Given the description of an element on the screen output the (x, y) to click on. 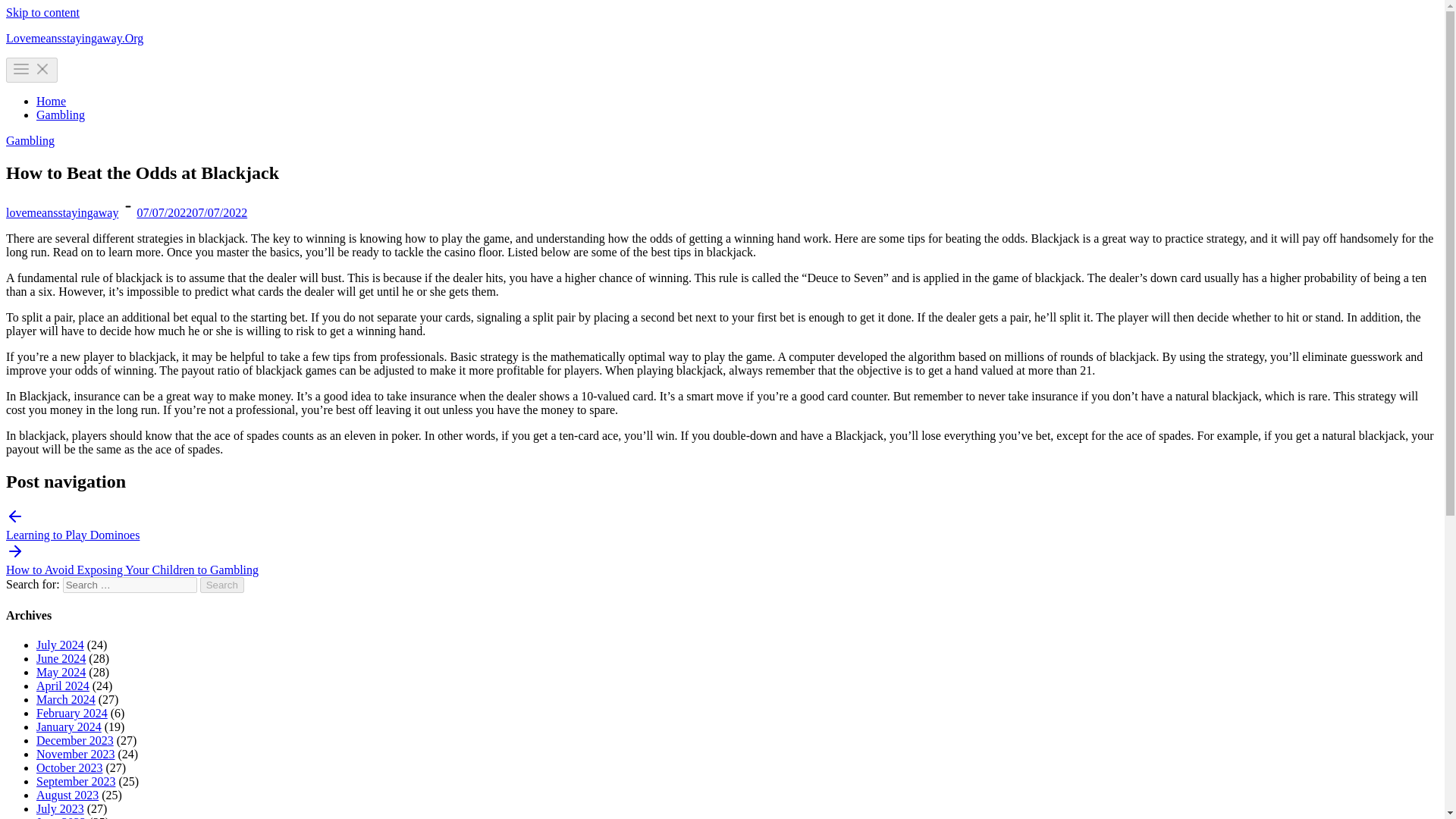
Lovemeansstayingaway.Org (73, 38)
July 2023 (60, 808)
January 2024 (68, 726)
July 2024 (60, 644)
February 2024 (71, 712)
December 2023 (74, 739)
October 2023 (69, 767)
lovemeansstayingaway (61, 212)
Skip to content (42, 11)
June 2023 (60, 817)
May 2024 (60, 671)
November 2023 (75, 753)
April 2024 (62, 685)
Search (222, 584)
September 2023 (75, 780)
